Given the description of an element on the screen output the (x, y) to click on. 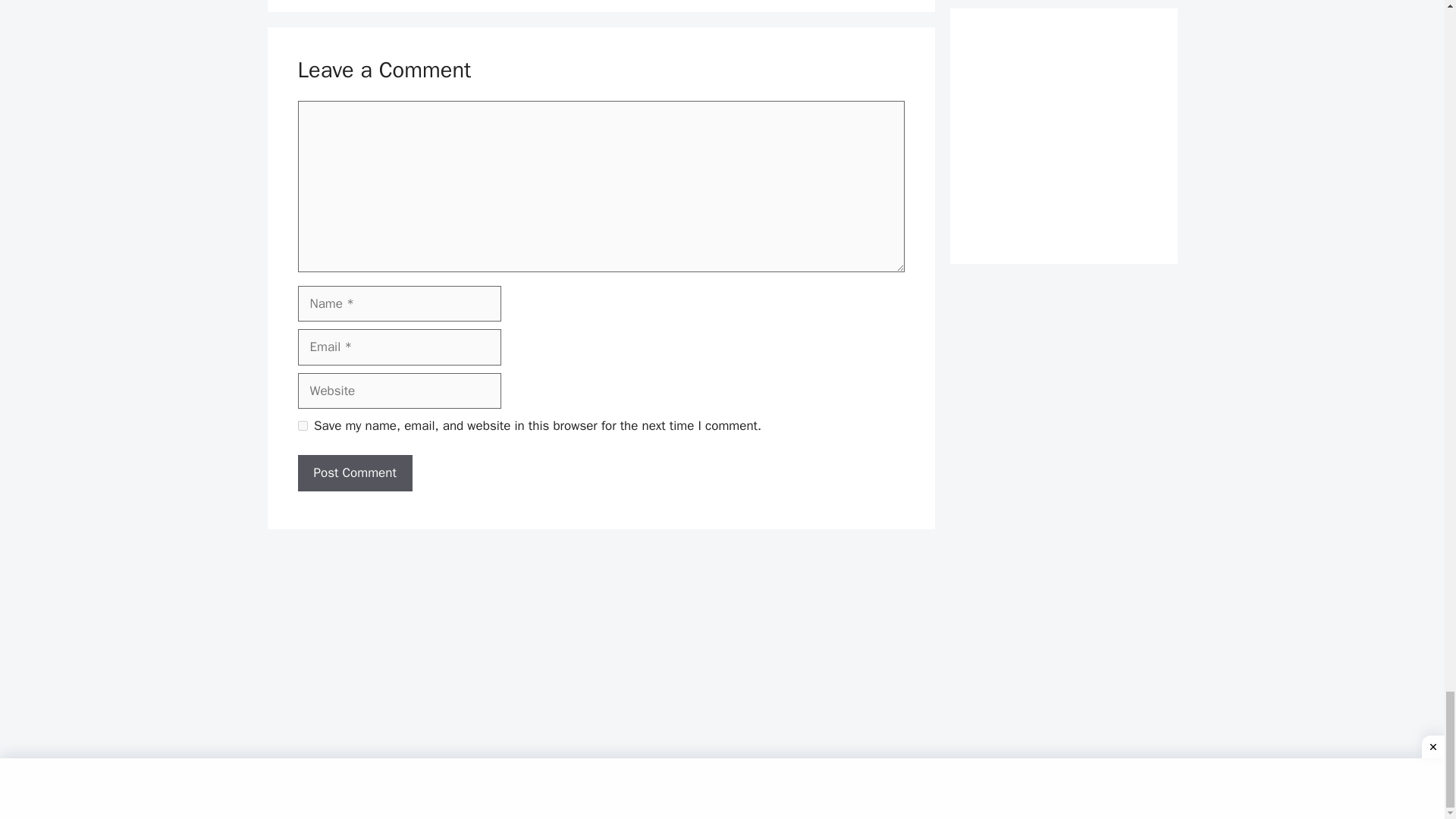
Post Comment (354, 473)
Post Comment (354, 473)
yes (302, 425)
